Given the description of an element on the screen output the (x, y) to click on. 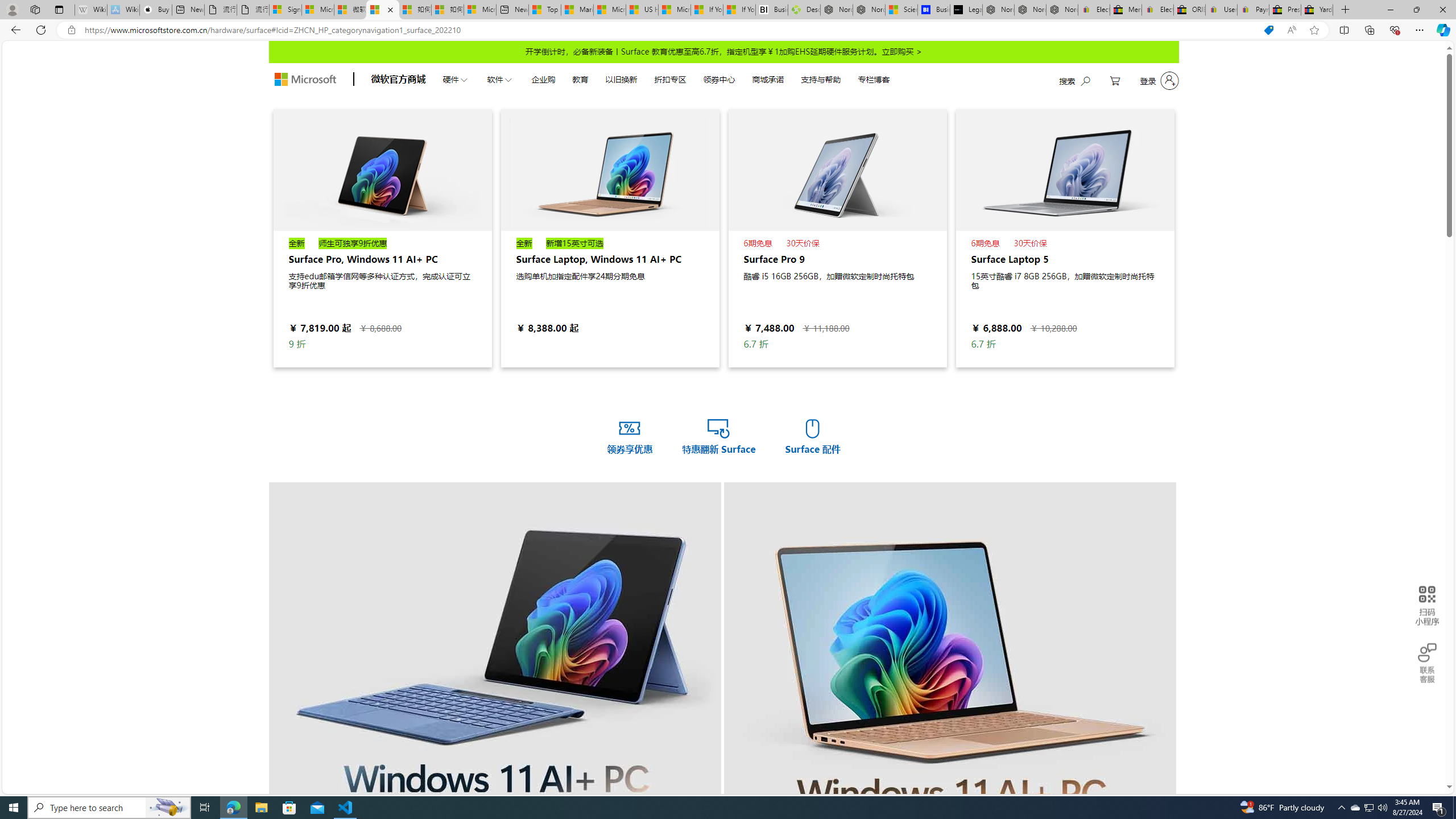
New tab (512, 9)
Wikipedia - Sleeping (90, 9)
Nordace - Summer Adventures 2024 (836, 9)
Microsoft (304, 79)
Press Room - eBay Inc. (1284, 9)
AutomationID: autoNav (665, 78)
Surface Pro 9 (837, 169)
